Given the description of an element on the screen output the (x, y) to click on. 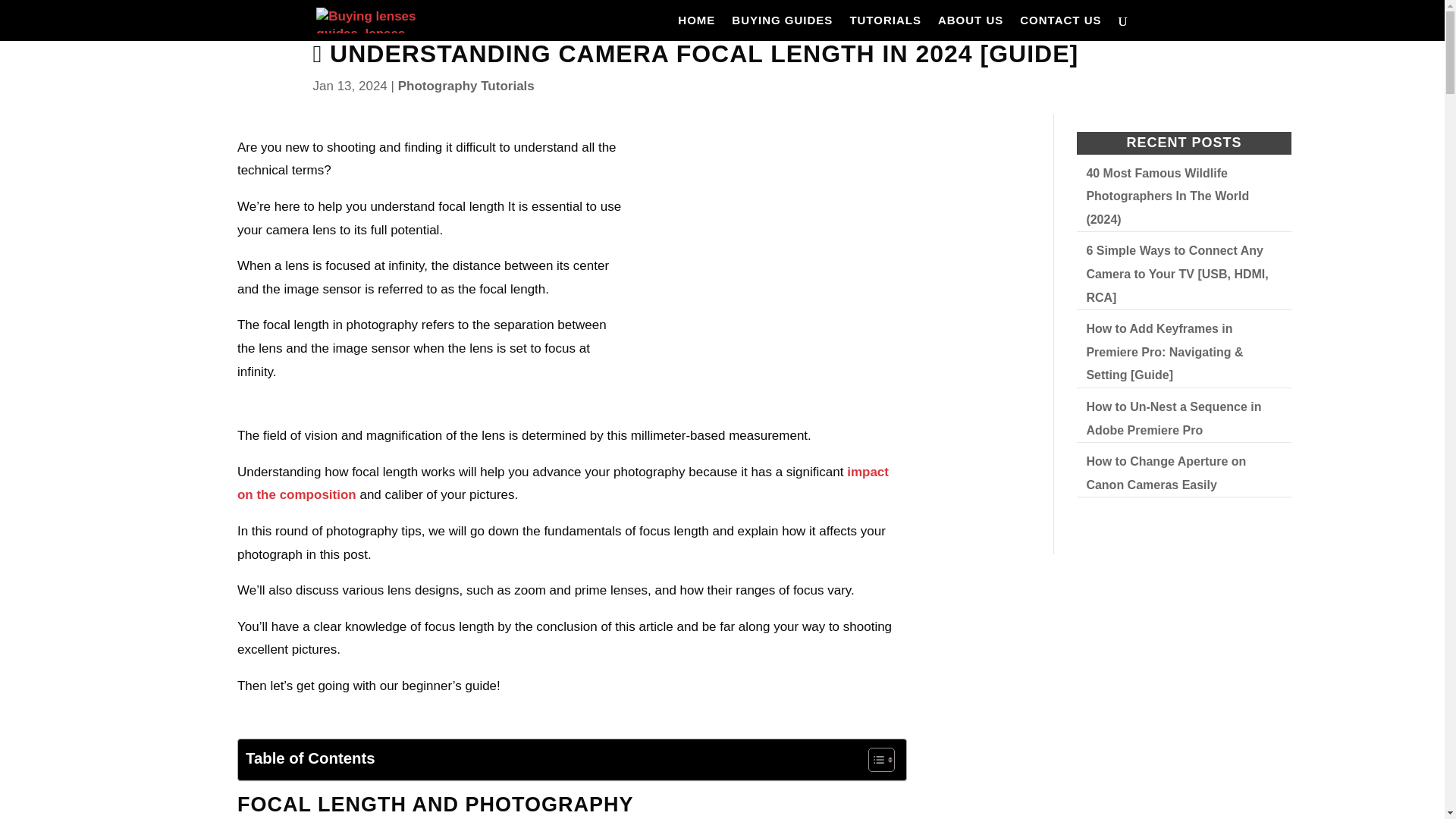
Photography Tutorials (465, 85)
BUYING GUIDES (782, 27)
How to Un-Nest a Sequence in Adobe Premiere Pro (1173, 418)
ABOUT US (970, 27)
HOME (696, 27)
TUTORIALS (884, 27)
How to Change Aperture on Canon Cameras Easily (1166, 473)
CONTACT US (1060, 27)
impact on the composition (562, 483)
